Given the description of an element on the screen output the (x, y) to click on. 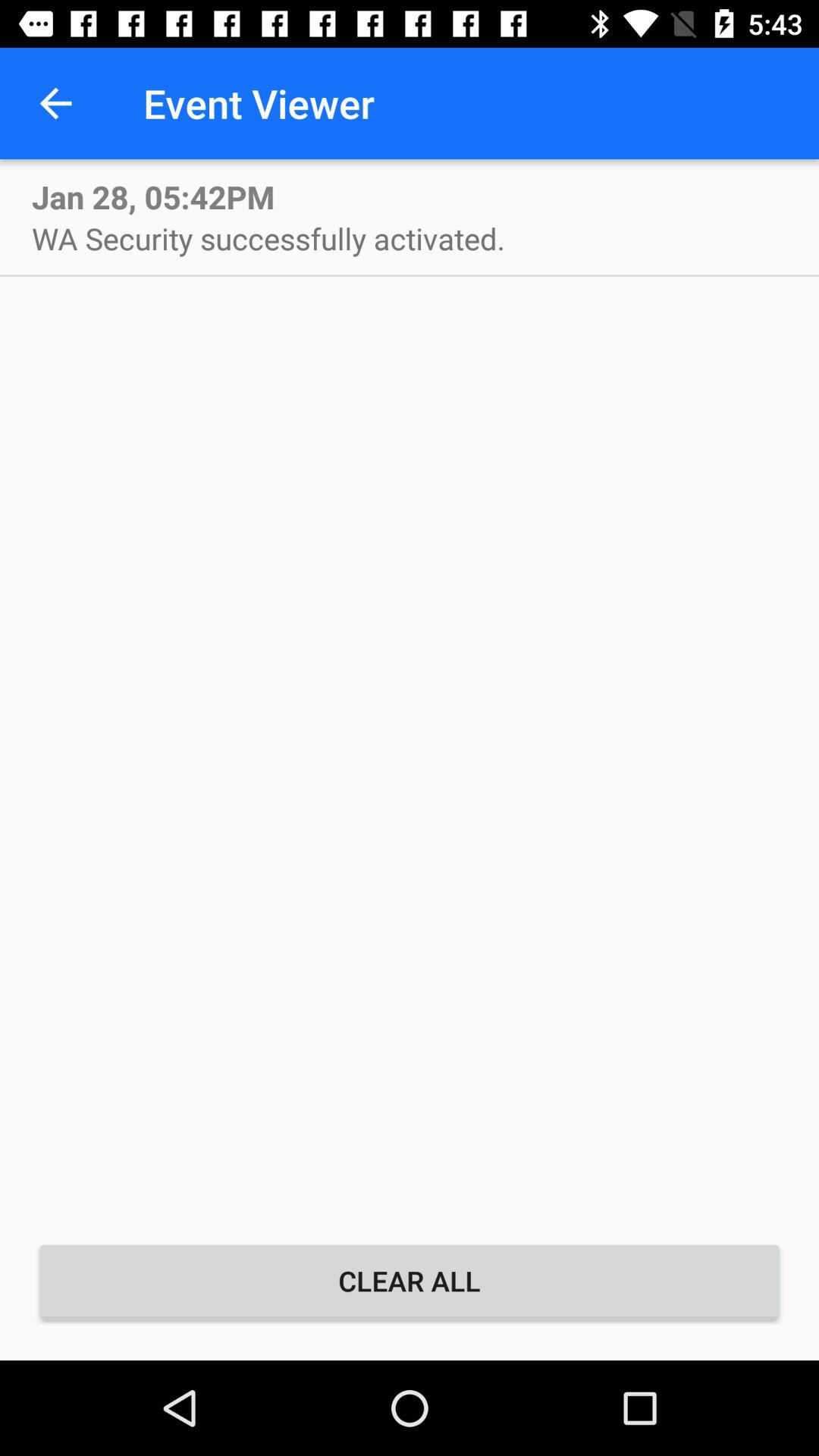
open the item next to the event viewer (55, 103)
